Given the description of an element on the screen output the (x, y) to click on. 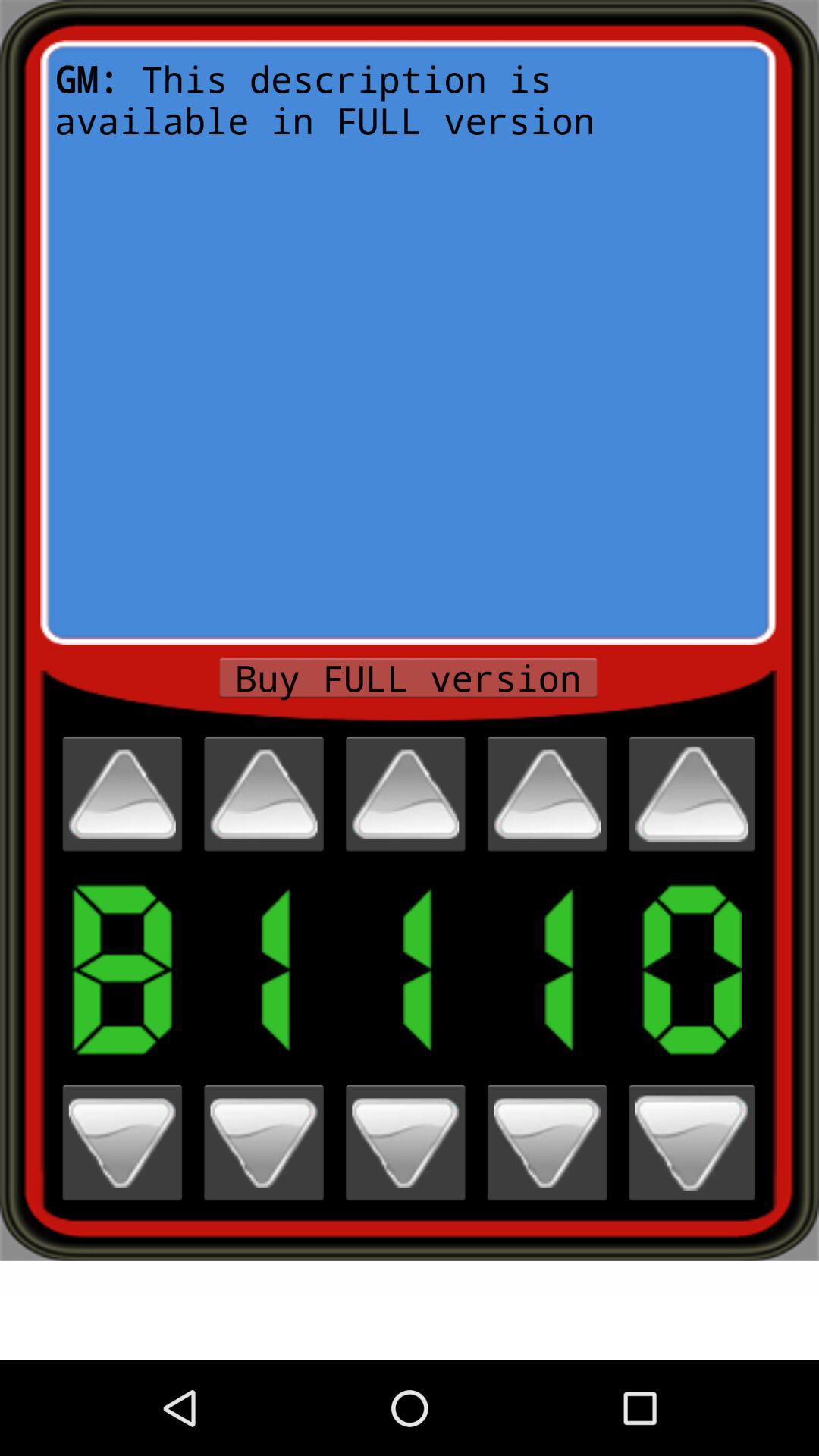
swipe to gm this description item (408, 342)
